Given the description of an element on the screen output the (x, y) to click on. 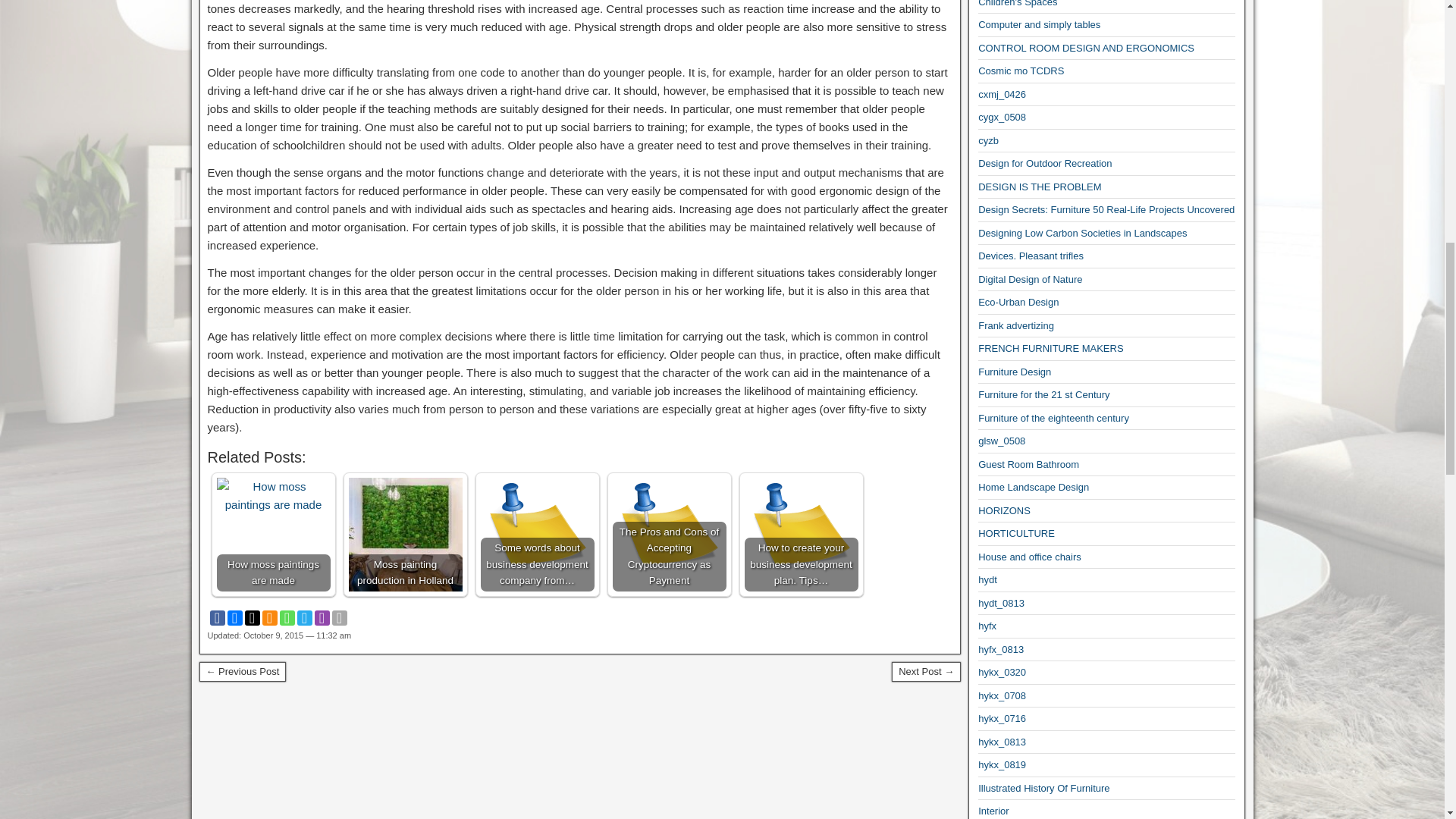
How moss paintings are made (273, 534)
The Pros and Cons of Accepting Cryptocurrency as Payment (669, 534)
CONTROL ROOM DESIGN AND ERGONOMICS (1085, 48)
Moss painting production in Holland (406, 534)
The Pros and Cons of Accepting Cryptocurrency as Payment (669, 534)
Persia (241, 671)
Children's Spaces (1017, 3)
Cosmic mo TCDRS (1021, 70)
Moss painting production in Holland (406, 534)
Computer and simply tables (1039, 24)
Bean Feast (925, 671)
How moss paintings are made (273, 495)
